Given the description of an element on the screen output the (x, y) to click on. 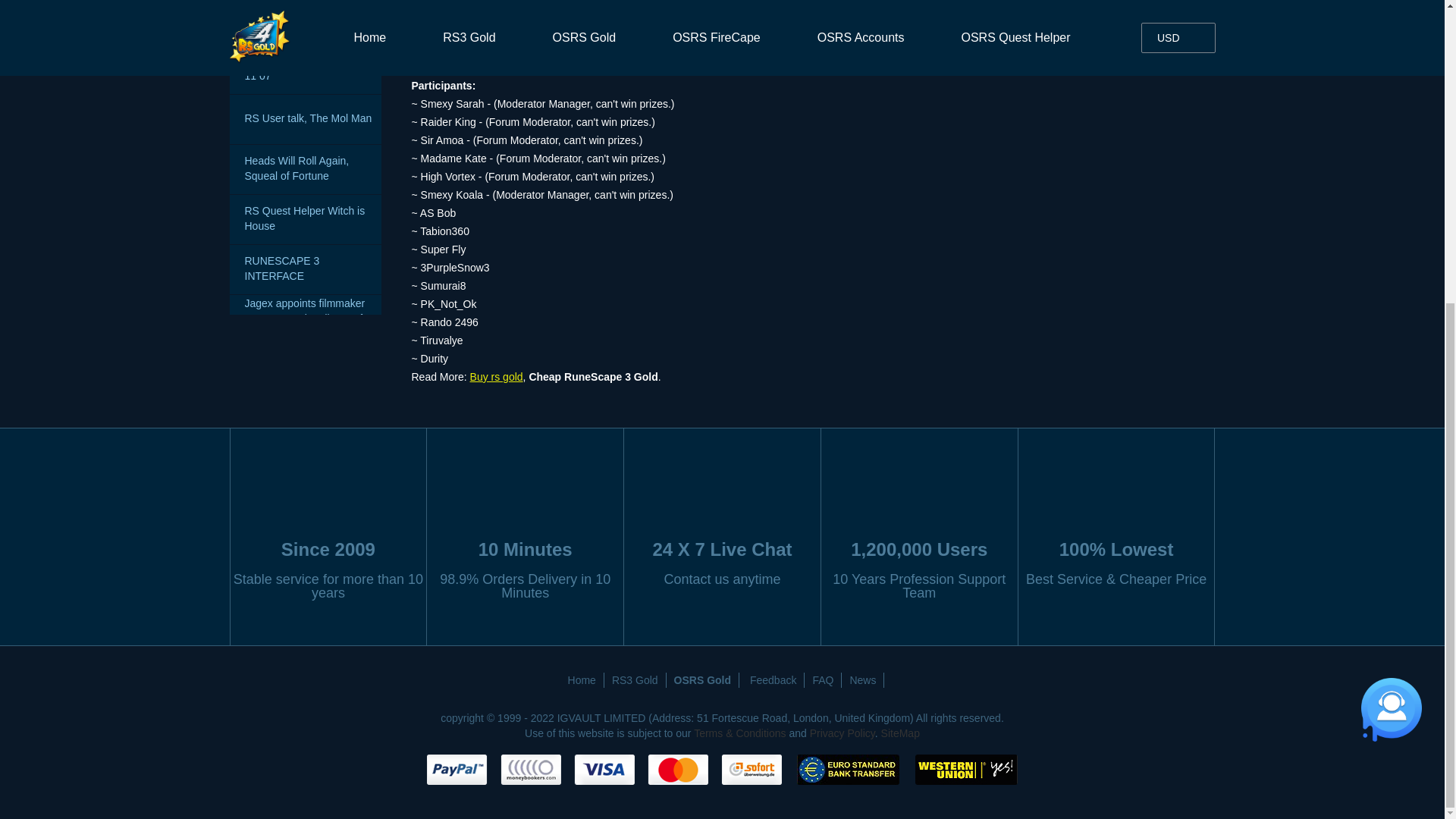
Runescape Community 20 06 Round Up (304, 368)
RS Quest Helper Witch is House (304, 219)
RS Community Round Up 11 07 (304, 69)
RS3 Gold (635, 679)
OSRS Gold (702, 679)
RS User talk, The Mol Man (304, 119)
Feedback (773, 679)
Heads Will Roll Again, Squeal of Fortune (304, 169)
Squeal of Fortune, Lamp of the Djinn (304, 469)
Around the Campfire, New RuneScape Website (304, 22)
RuneFest 2013, Save the Date (304, 619)
Jagex boasts best financial year ever (304, 669)
Far and Wide, Runescape Transport Update (304, 519)
